Given the description of an element on the screen output the (x, y) to click on. 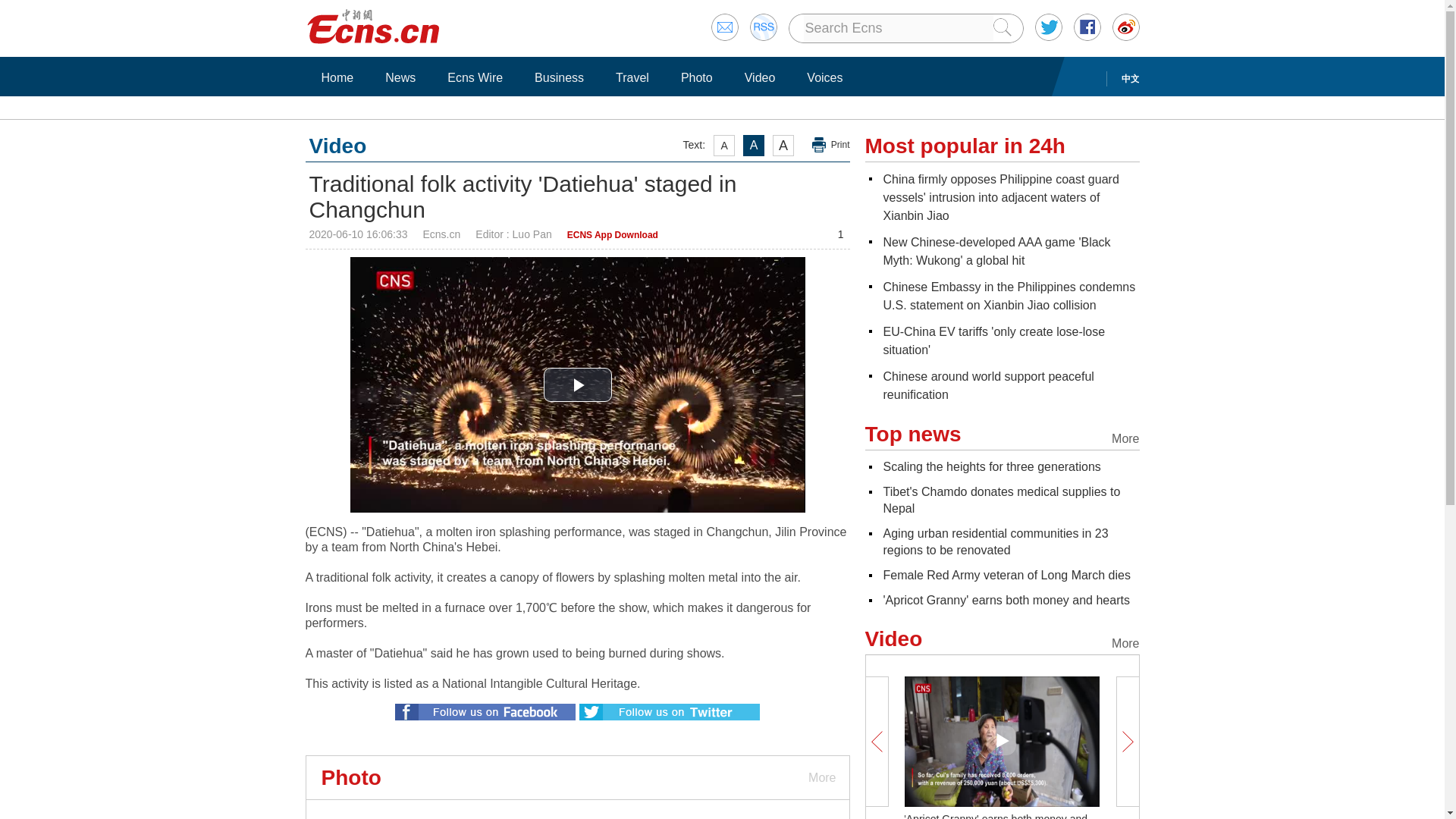
Play Video (577, 384)
Home (337, 77)
Print (831, 144)
News (400, 77)
China (1000, 196)
Ecns Wire (475, 77)
Search Ecns (897, 27)
Travel (632, 77)
Play Video (577, 384)
New (995, 250)
